Given the description of an element on the screen output the (x, y) to click on. 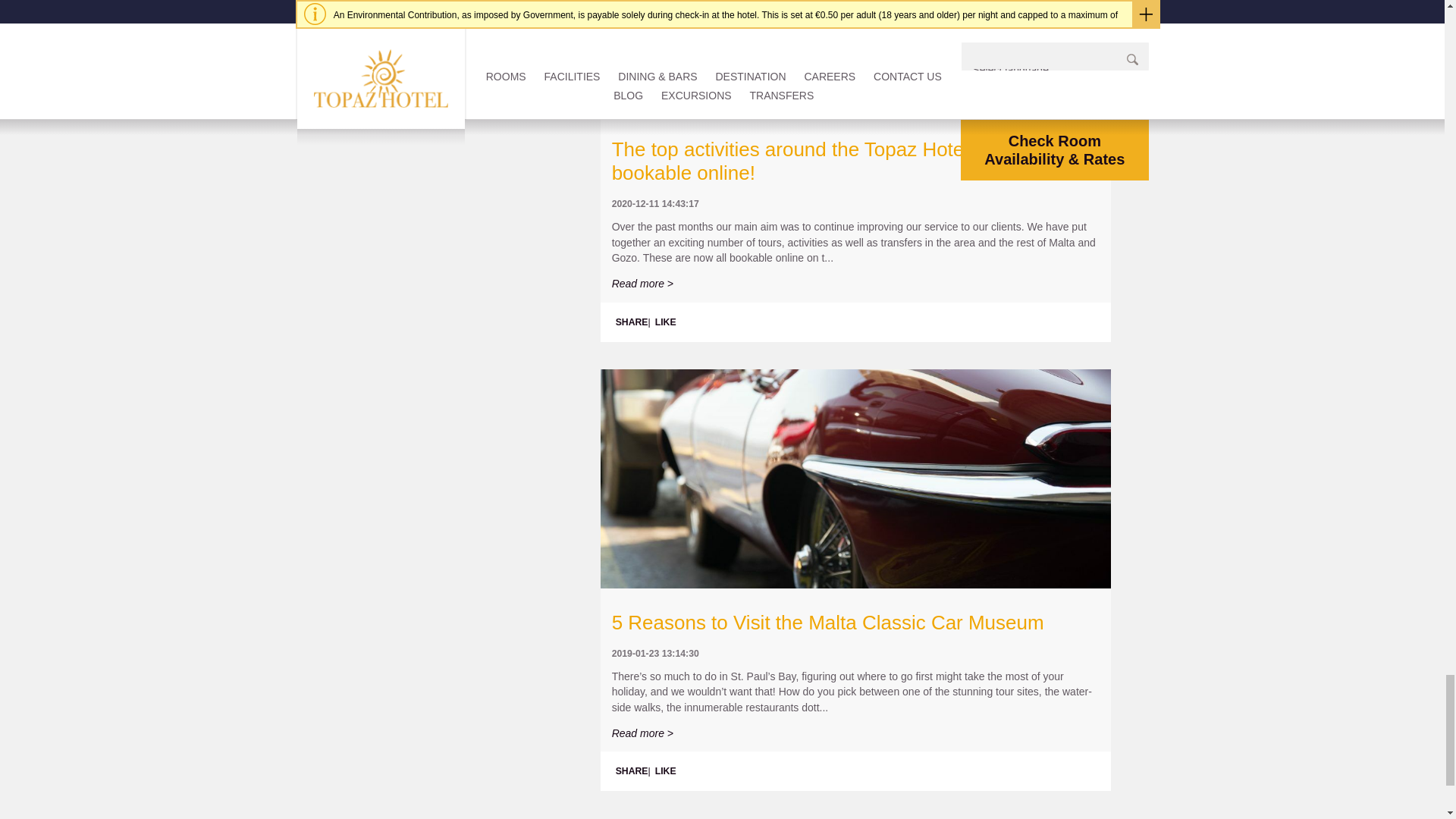
5 Reasons to Visit the Malta Classic Car Museum (827, 621)
LIKE (666, 322)
